Given the description of an element on the screen output the (x, y) to click on. 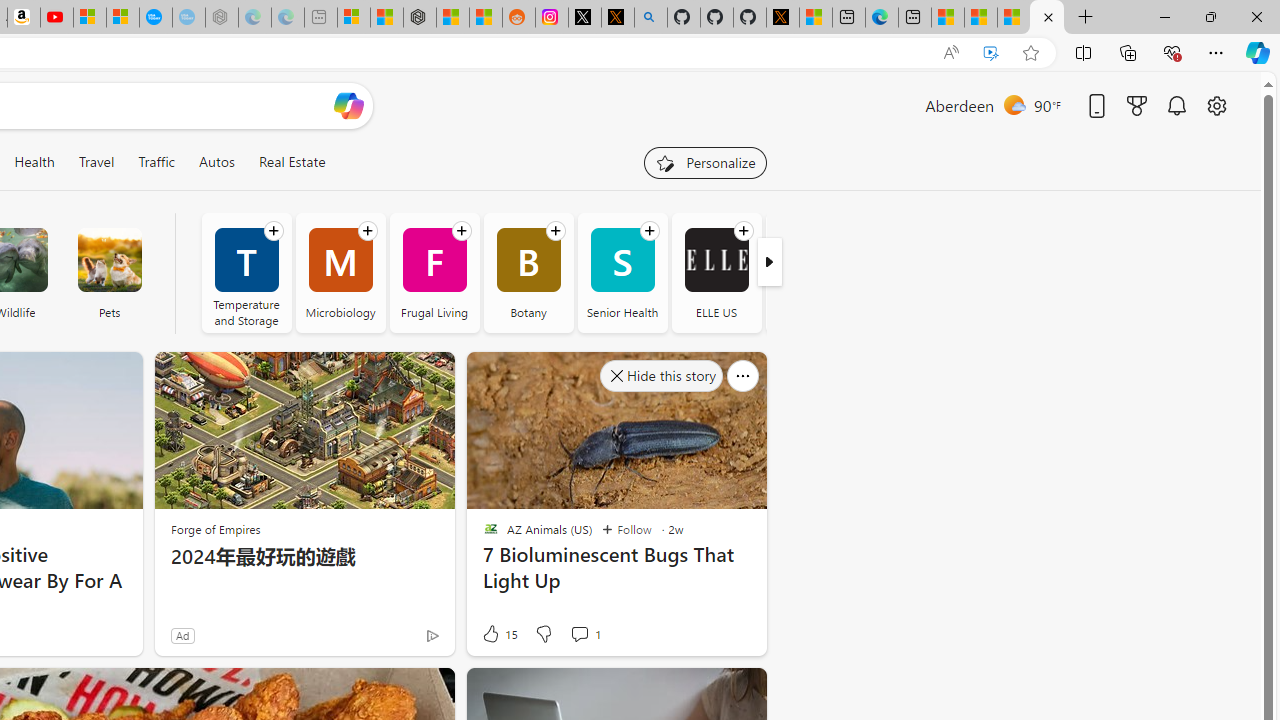
Real Estate (291, 162)
Autos (216, 161)
Temperature and Storage (245, 272)
Pets (109, 260)
15 Like (499, 633)
Nordace - Nordace has arrived Hong Kong - Sleeping (222, 17)
